Given the description of an element on the screen output the (x, y) to click on. 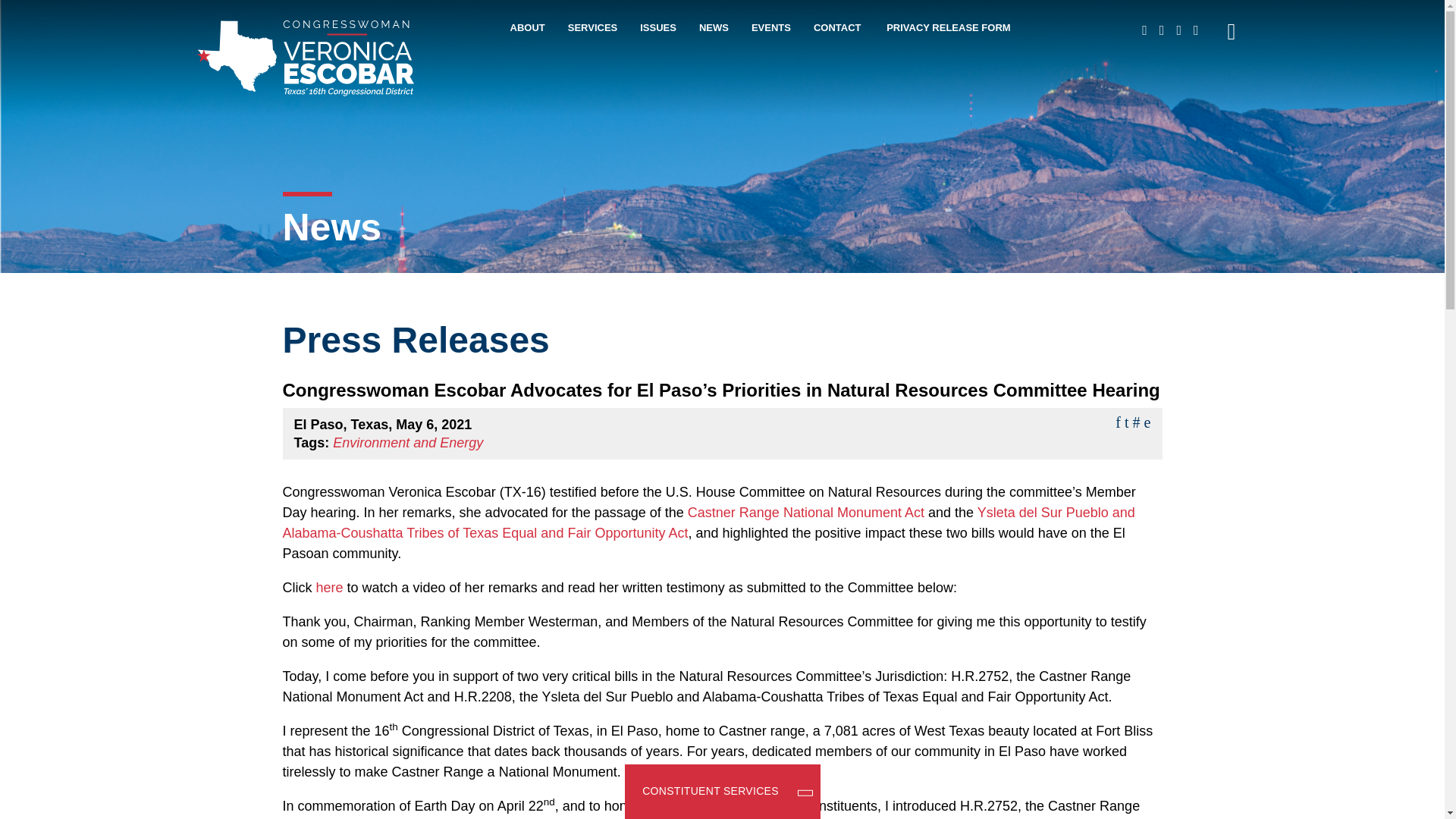
ISSUES (658, 38)
SERVICES (592, 38)
ABOUT (526, 38)
